Given the description of an element on the screen output the (x, y) to click on. 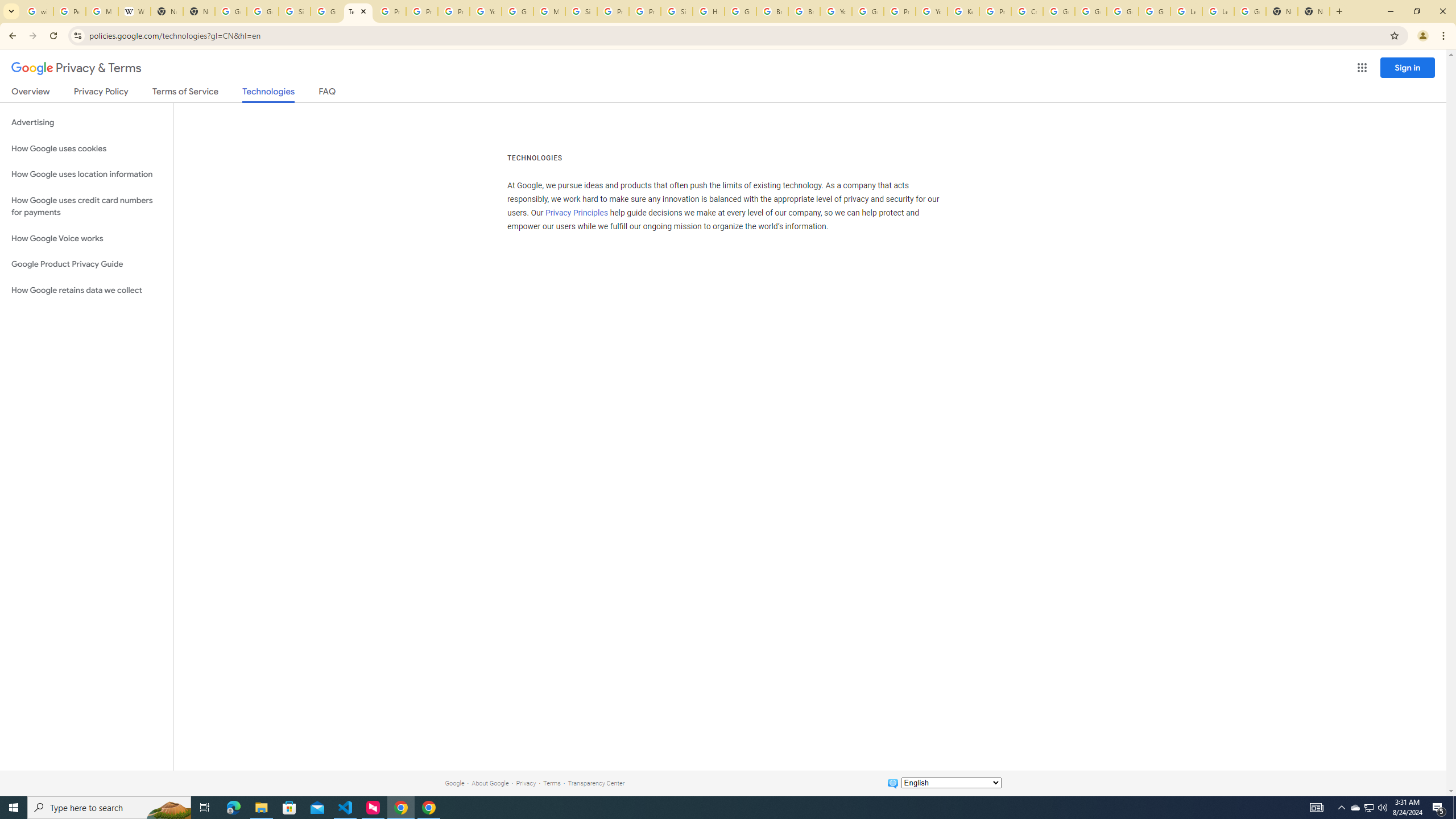
YouTube (485, 11)
Sign in - Google Accounts (676, 11)
